Given the description of an element on the screen output the (x, y) to click on. 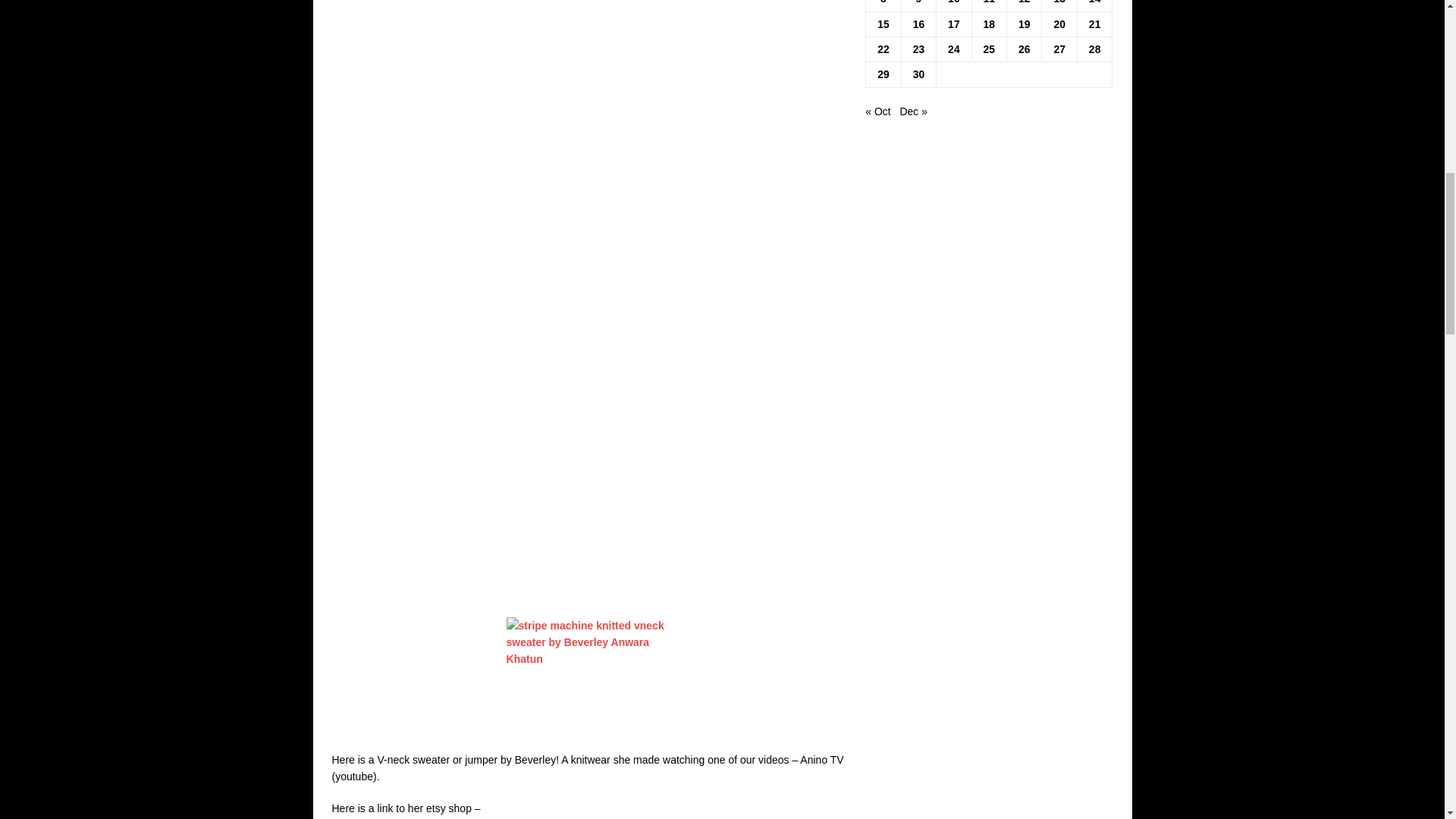
16 (918, 24)
12 (1023, 2)
15 (883, 24)
14 (1094, 2)
10 (953, 2)
13 (1058, 2)
11 (989, 2)
